Given the description of an element on the screen output the (x, y) to click on. 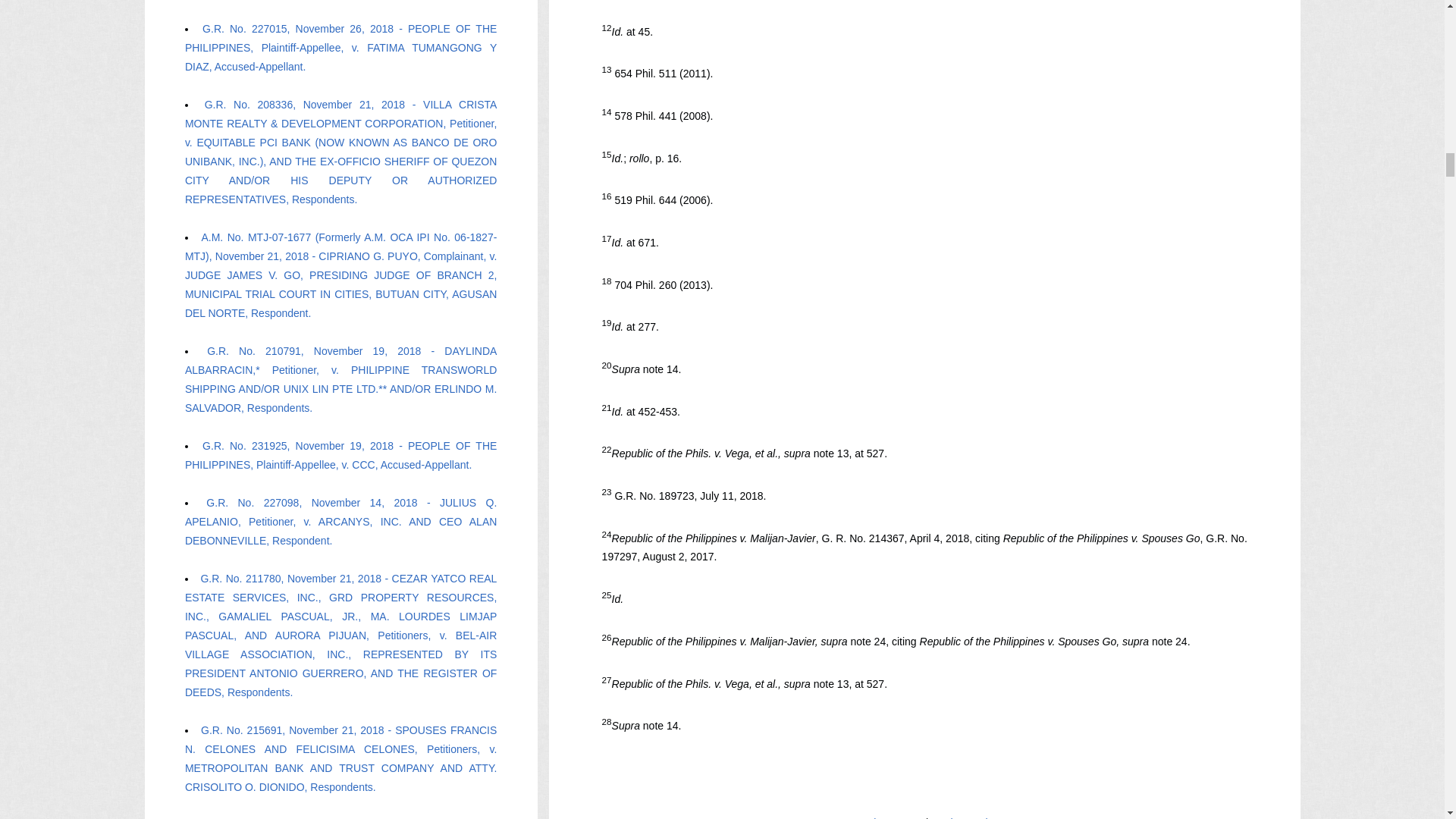
Back to Home (888, 817)
Back to Main (962, 817)
